Given the description of an element on the screen output the (x, y) to click on. 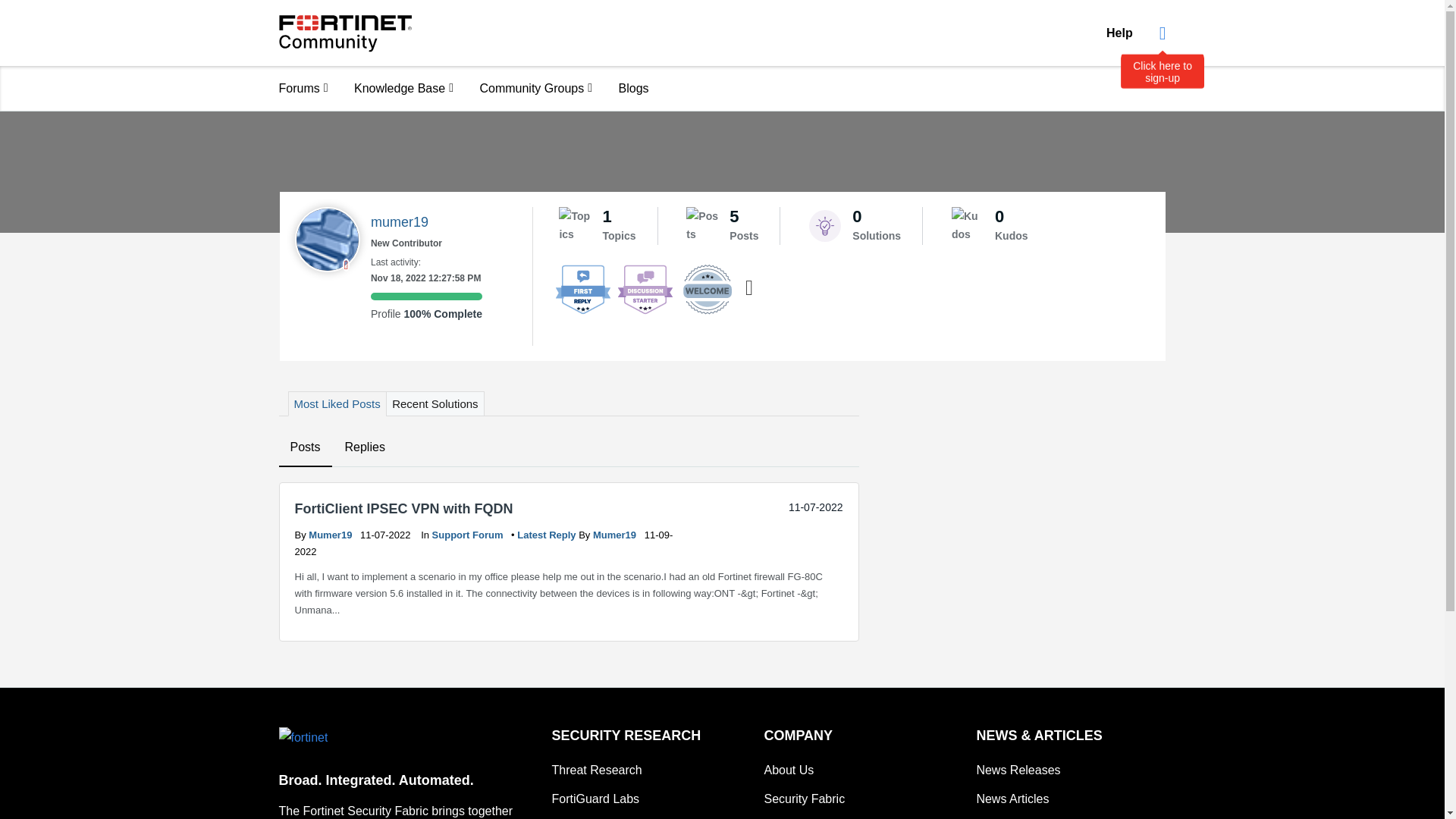
Forums (302, 88)
View profile (331, 534)
11-07-2022 10:43 AM 11-07-2022 10:43 AM (816, 507)
Welcome (706, 289)
Help (1119, 32)
mumer19 (326, 239)
View post (547, 534)
Knowledge Base (403, 88)
Fortinet Community (345, 33)
First Reply (582, 289)
Discussion Starter (644, 289)
View profile (615, 534)
